Given the description of an element on the screen output the (x, y) to click on. 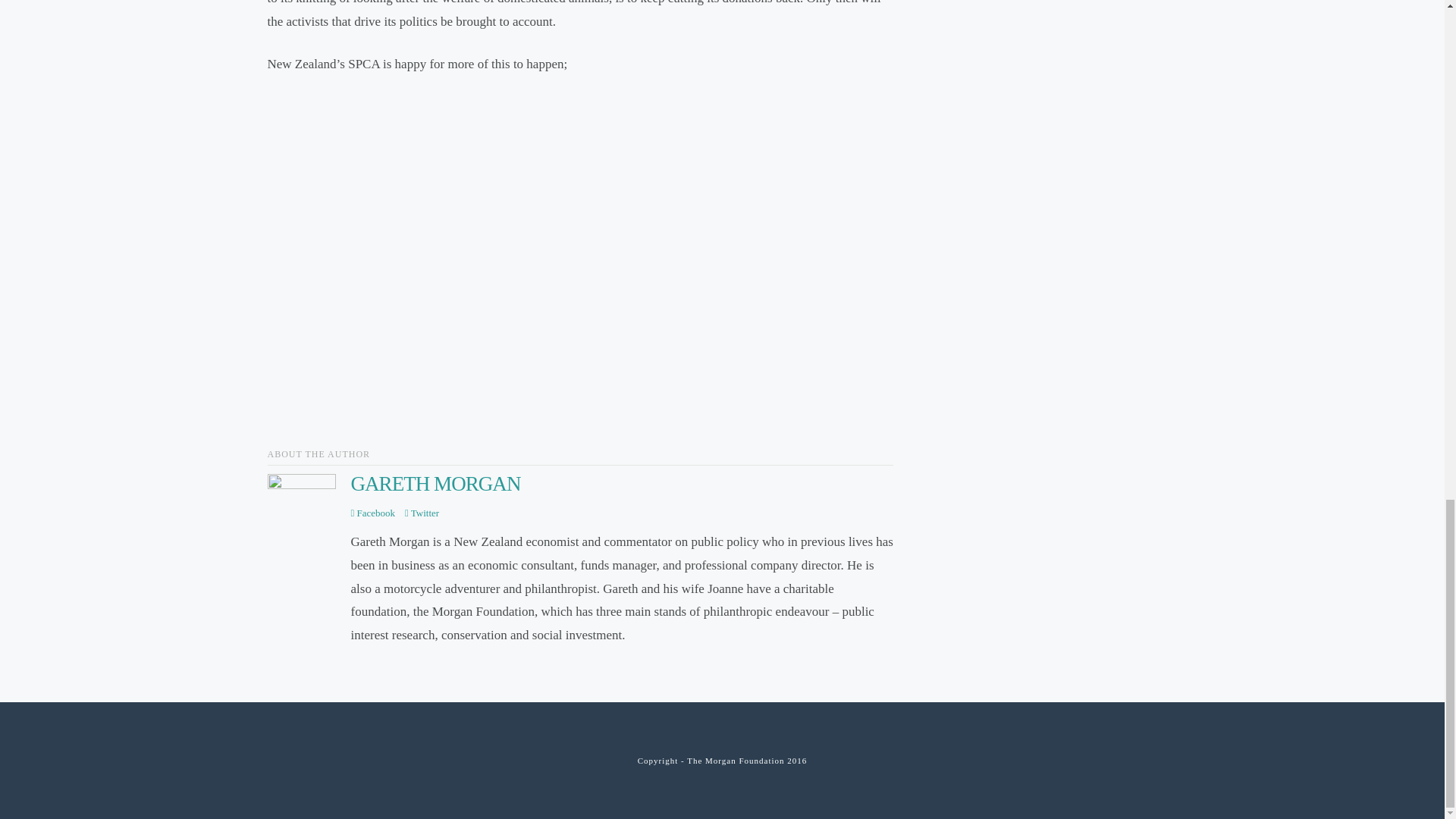
Visit the Twitter Profile for Gareth Morgan (421, 512)
Visit the Facebook Profile for Gareth Morgan (372, 512)
